Given the description of an element on the screen output the (x, y) to click on. 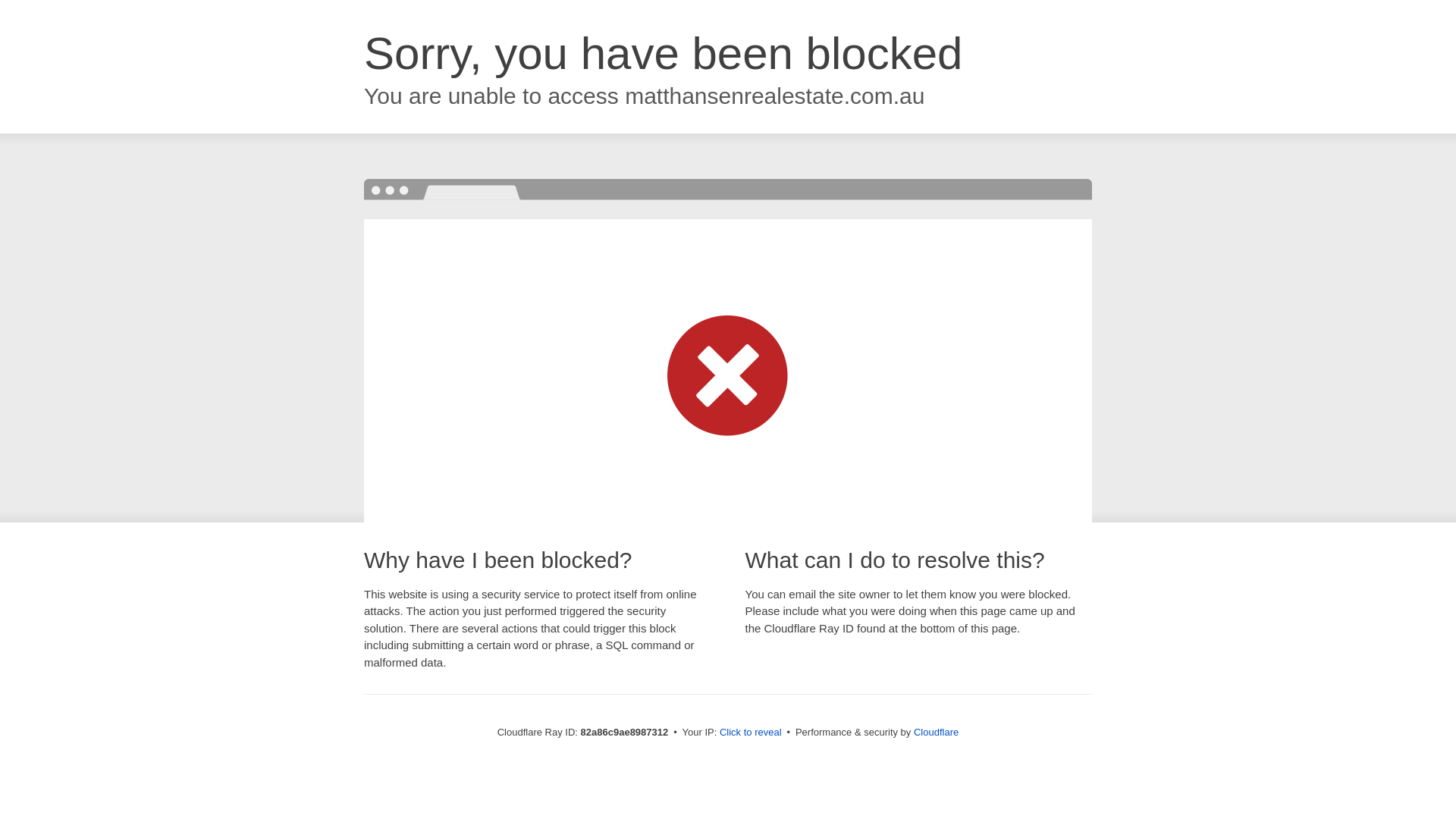
Cloudflare Element type: text (935, 731)
Click to reveal Element type: text (750, 732)
